Given the description of an element on the screen output the (x, y) to click on. 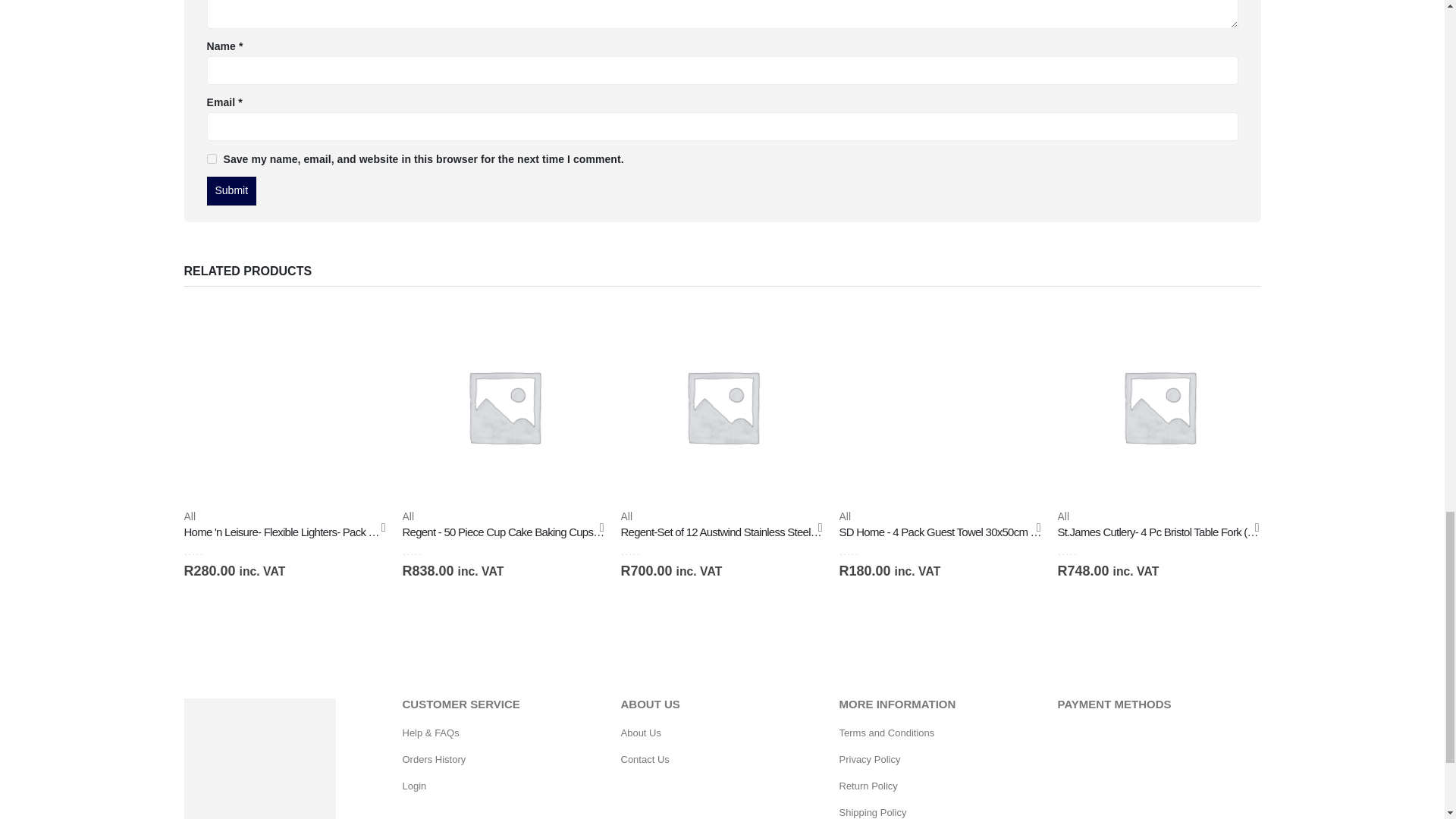
yes (210, 158)
0 (210, 550)
0 (429, 550)
Submit (231, 190)
